Given the description of an element on the screen output the (x, y) to click on. 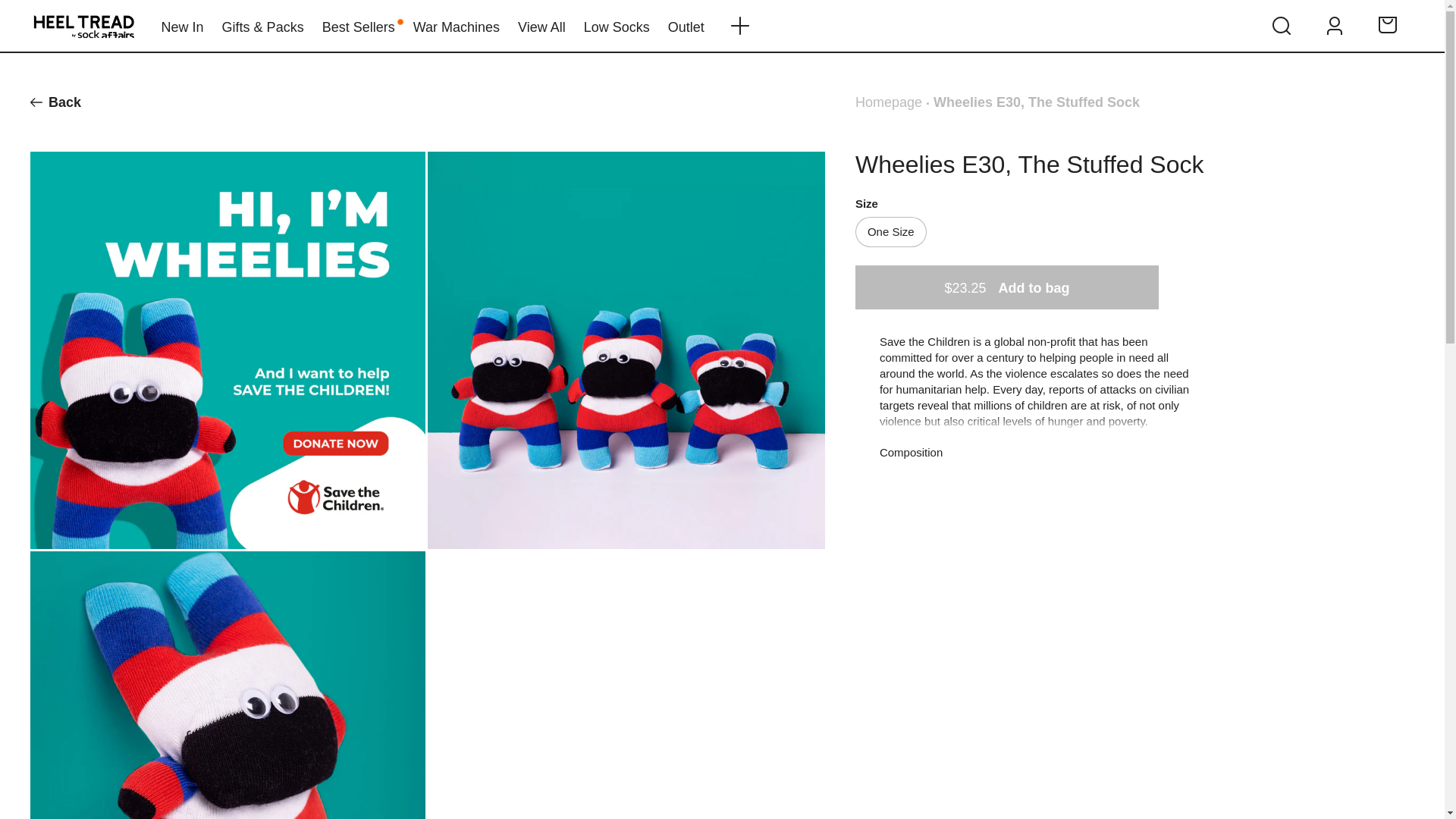
View All (542, 25)
Homepage (888, 102)
War Machines (456, 25)
Low Socks (616, 25)
Best Sellers (357, 25)
